Given the description of an element on the screen output the (x, y) to click on. 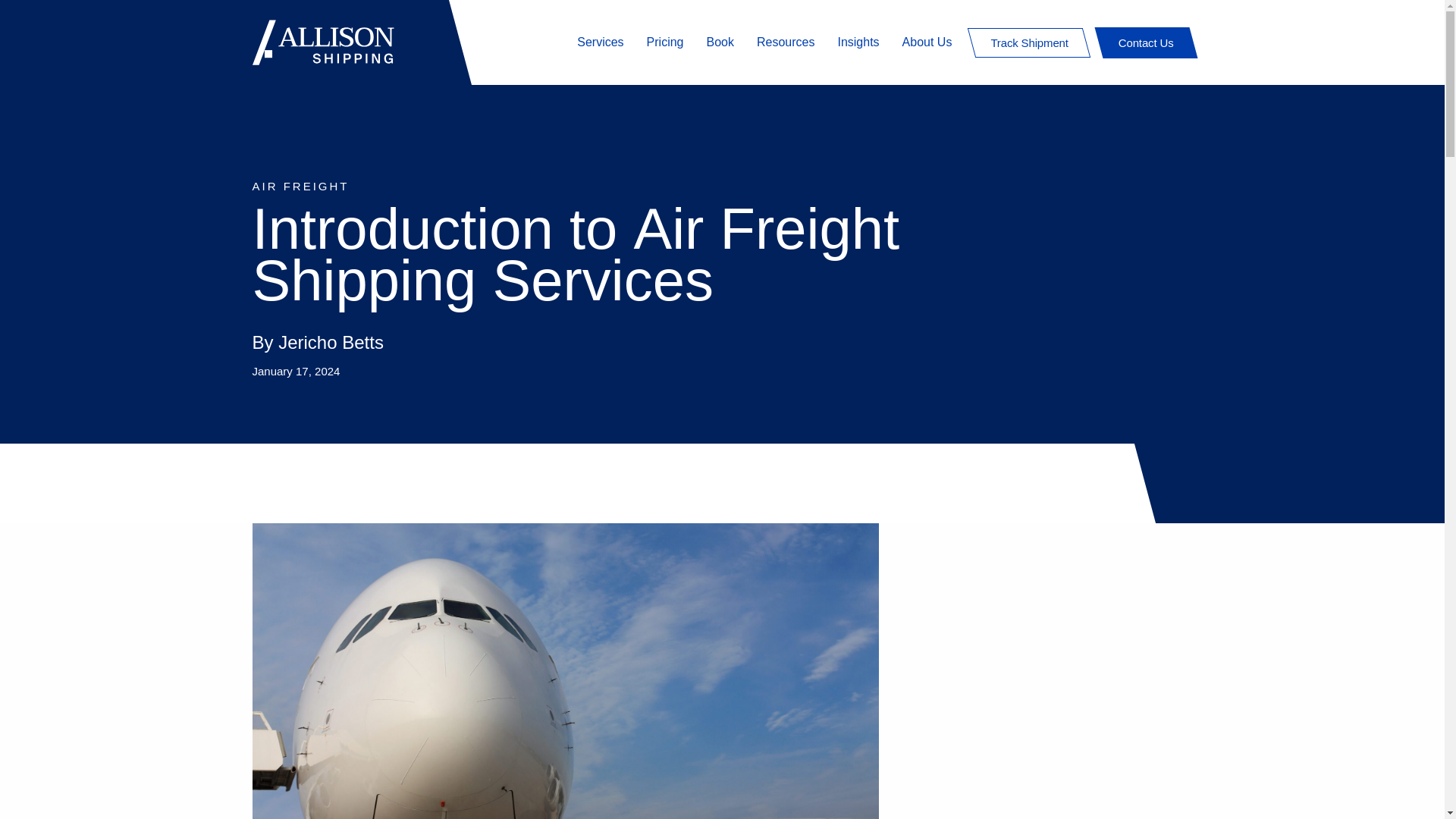
Track Shipment (1028, 41)
Contact Us (1145, 41)
